Given the description of an element on the screen output the (x, y) to click on. 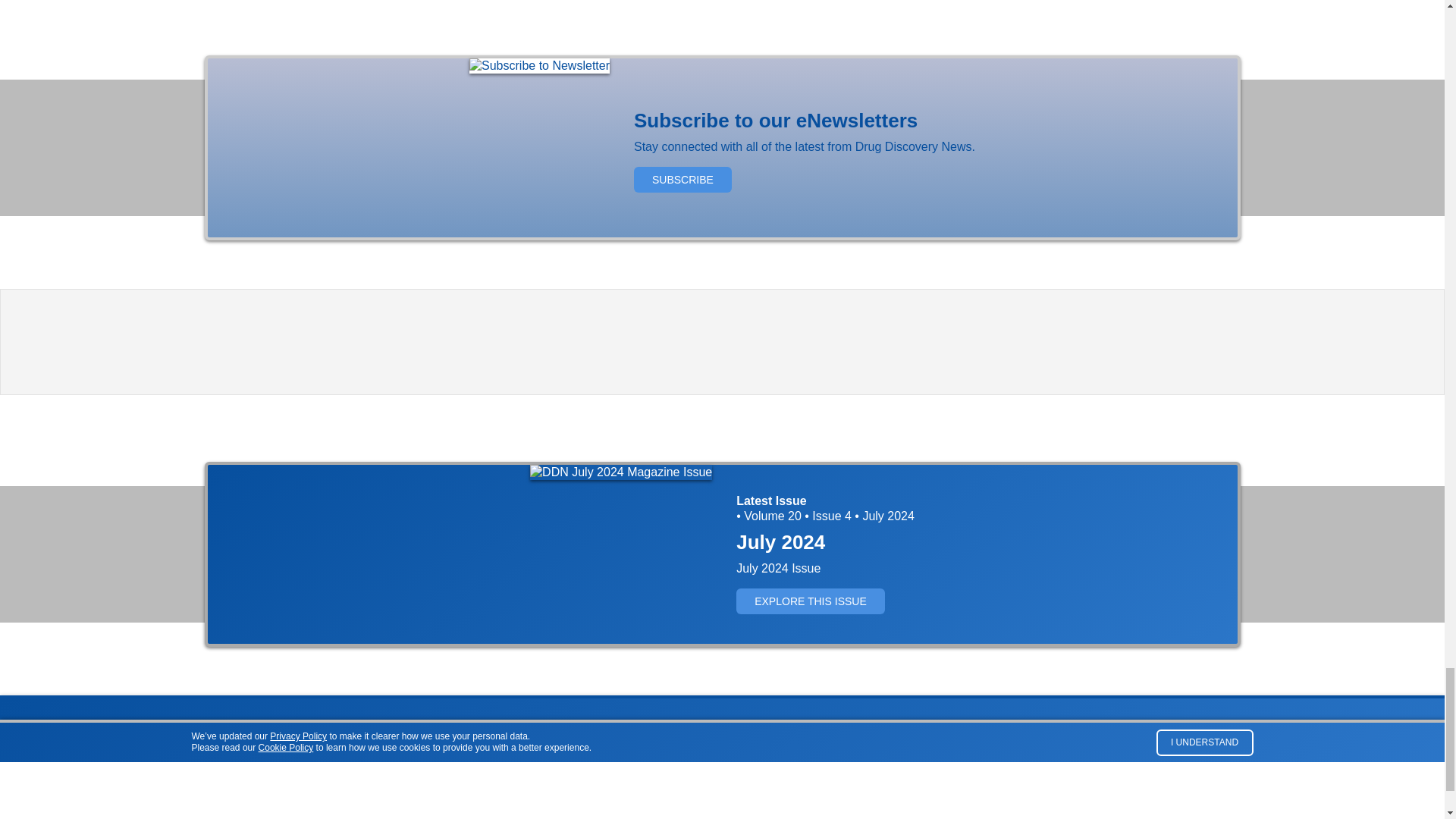
Subscribe to Newsletter (539, 65)
Twitter (1213, 752)
Facebook (1186, 752)
LinkedIn (1240, 752)
